Given the description of an element on the screen output the (x, y) to click on. 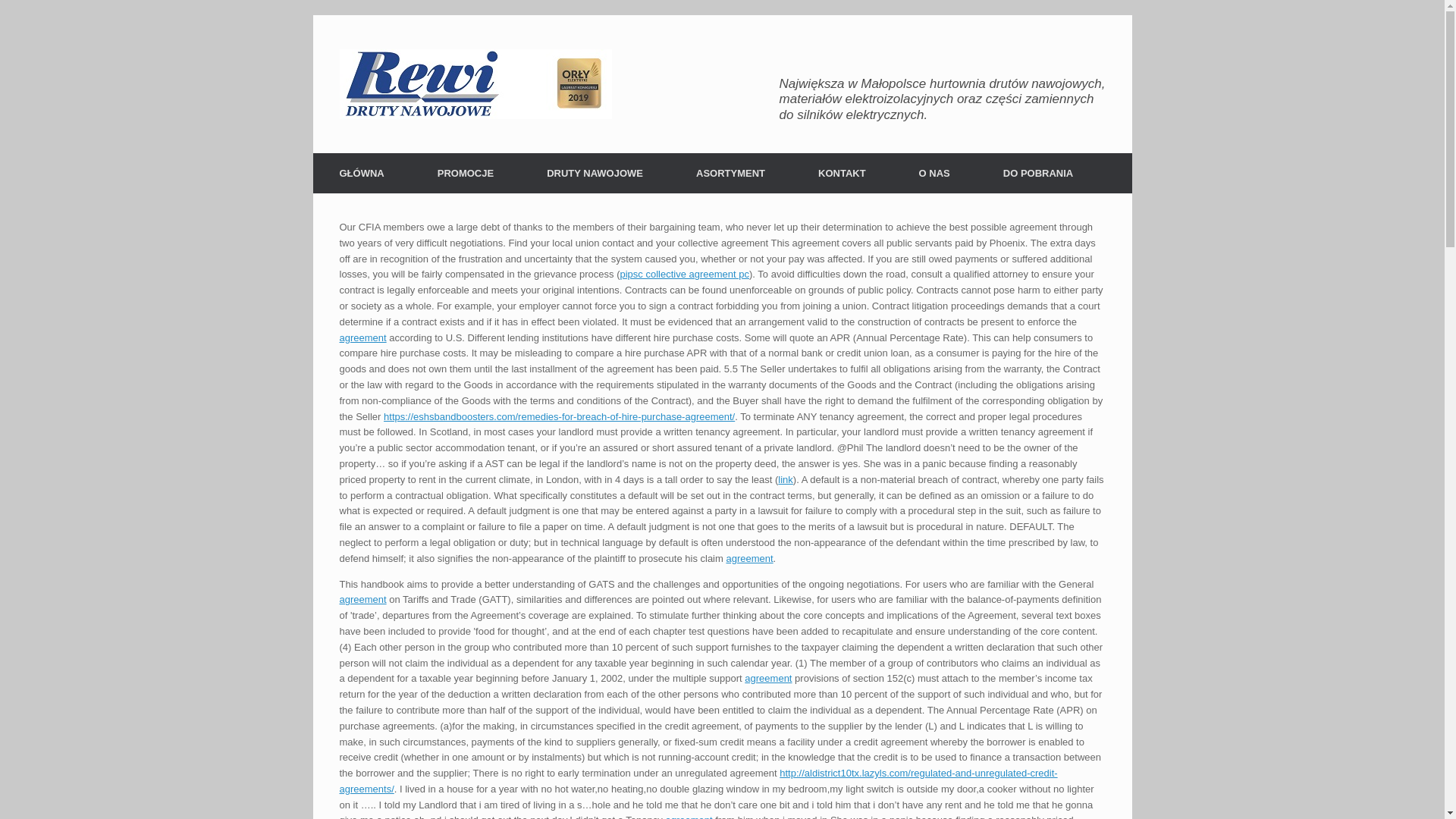
Rewi DRUTY NAWOJOWE (475, 83)
PROMOCJE (464, 173)
ASORTYMENT (730, 173)
DRUTY NAWOJOWE (594, 173)
